Given the description of an element on the screen output the (x, y) to click on. 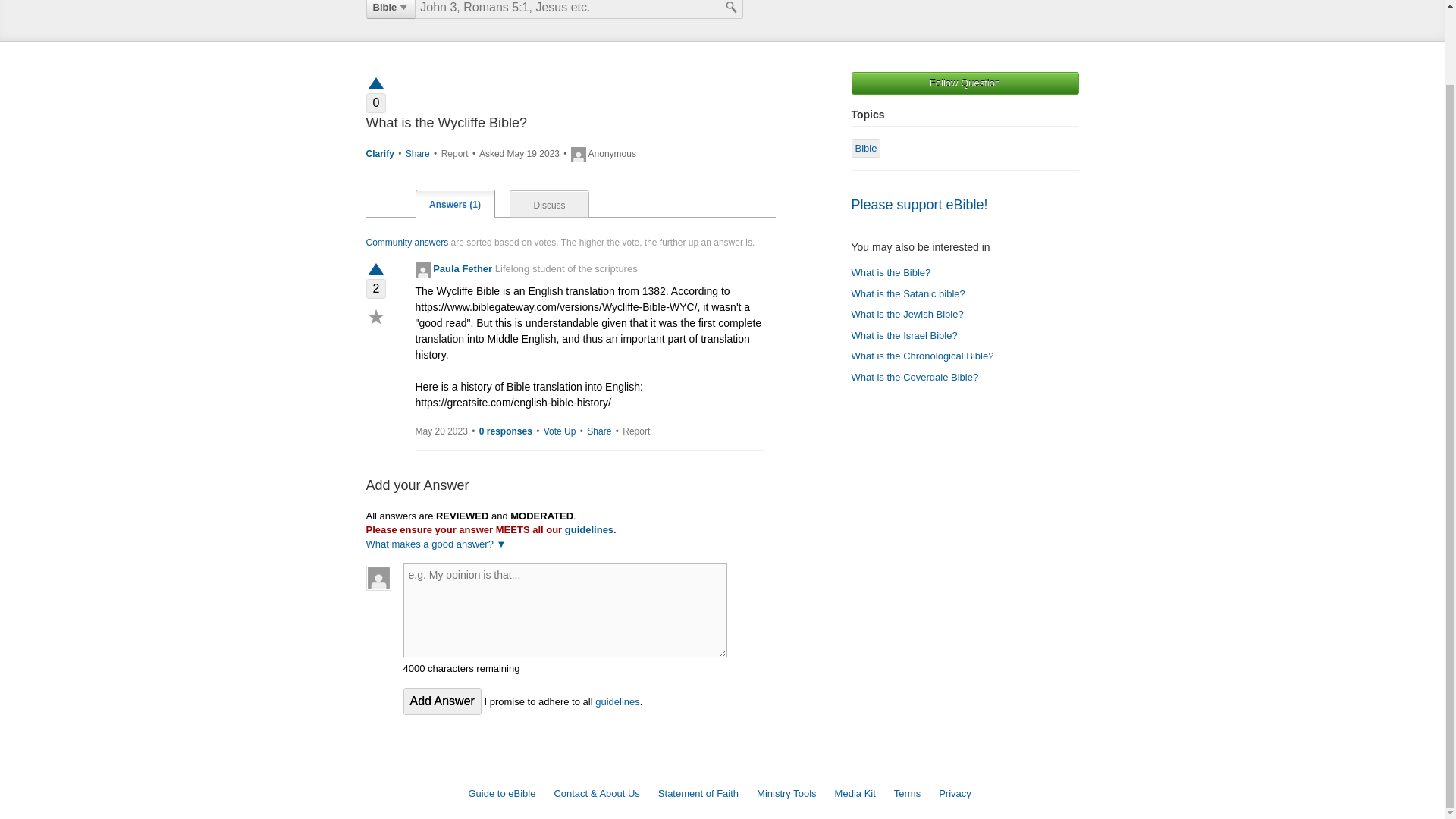
Vote Up (559, 430)
Vote Question Up (375, 82)
Add Answer (442, 700)
Vote Up (375, 270)
